Given the description of an element on the screen output the (x, y) to click on. 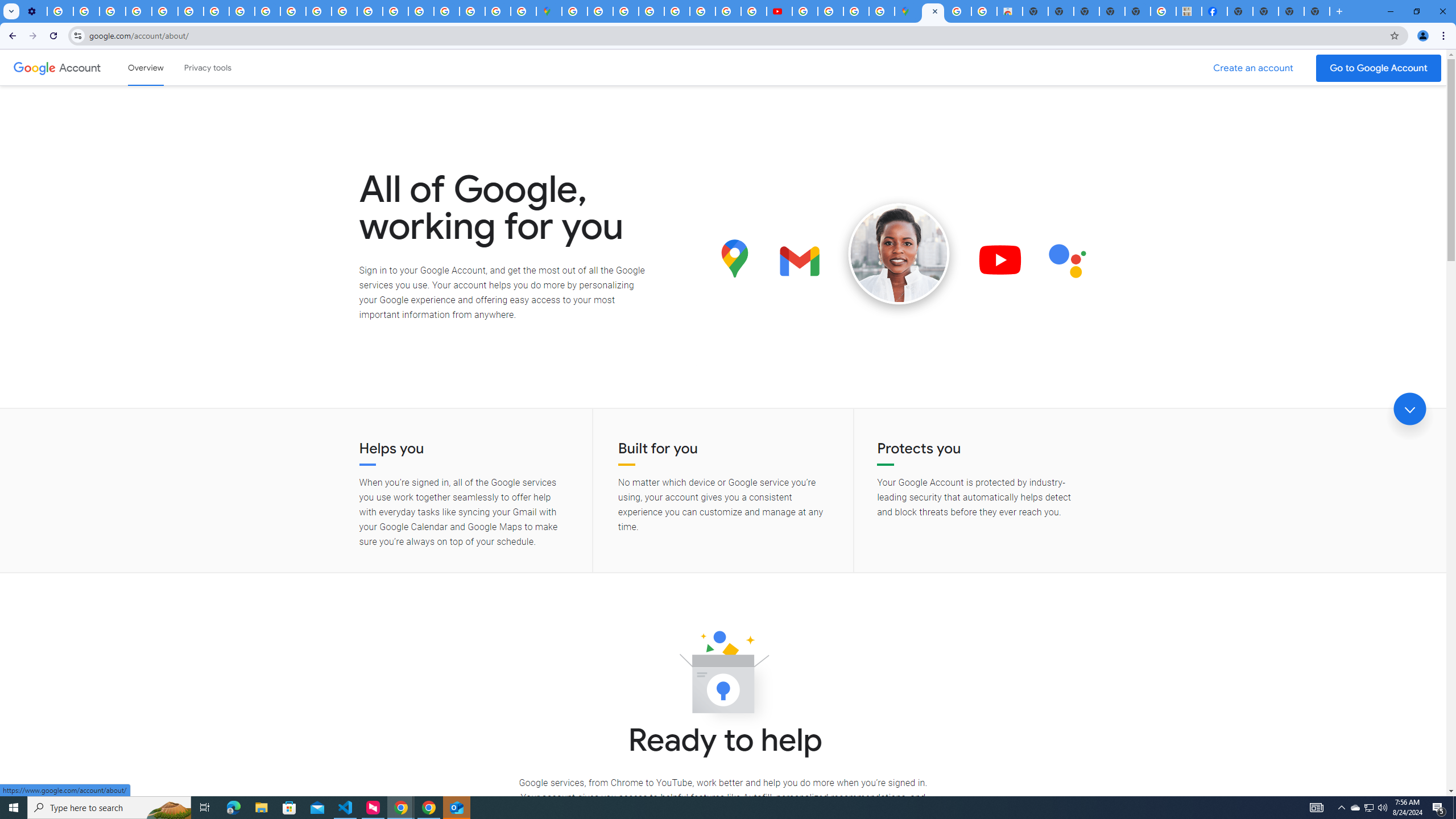
New Tab (1316, 11)
Sign in - Google Accounts (574, 11)
Privacy Checkup (266, 11)
Privacy Help Center - Policies Help (727, 11)
YouTube (190, 11)
Privacy Help Center - Policies Help (344, 11)
Settings - Customize profile (34, 11)
MILEY CYRUS. (1188, 11)
Jump link (1409, 408)
